Given the description of an element on the screen output the (x, y) to click on. 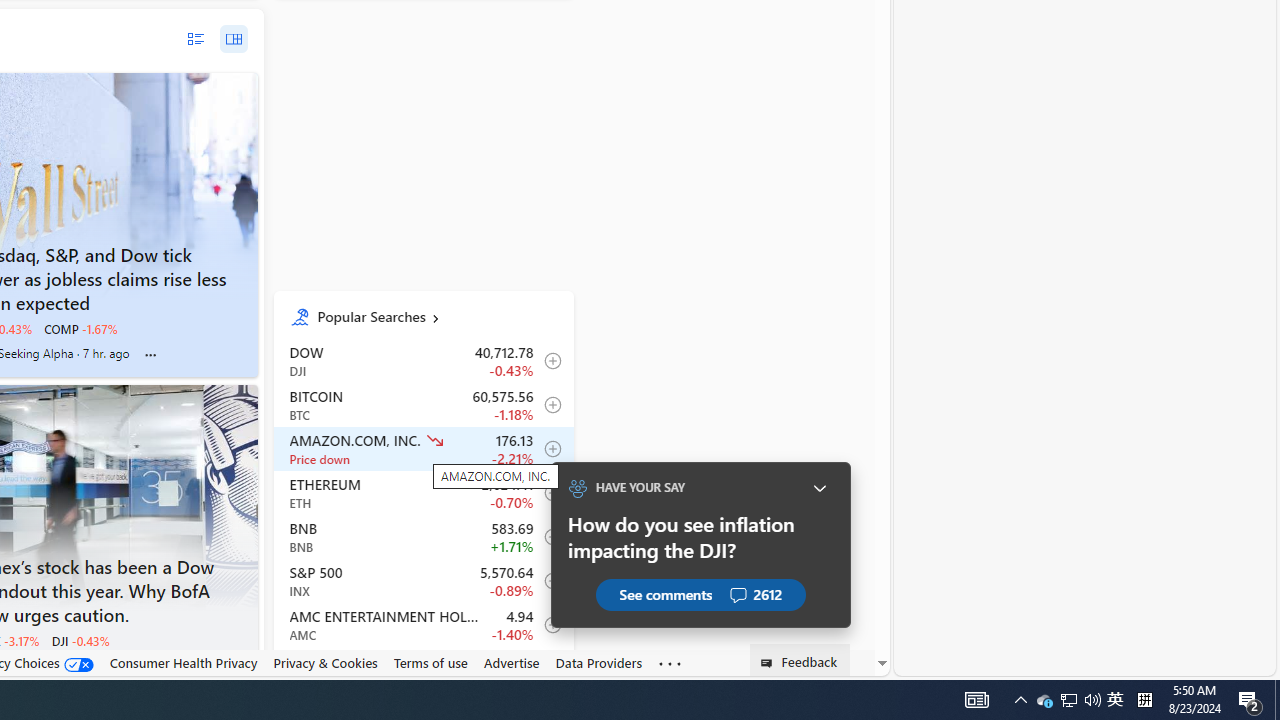
list layout (194, 39)
ETH Ethereum decrease 2,624.41 -18.32 -0.70% itemundefined (422, 492)
DJI -0.43% (80, 640)
grid layout (233, 39)
INX S&P 500 decrease 5,570.64 -50.21 -0.89% itemundefined (422, 580)
Class: oneFooter_seeMore-DS-EntryPoint1-1 (669, 663)
BNB BNB increase 583.69 +10.00 +1.71% itemundefined (422, 536)
Privacy & Cookies (324, 662)
DJI DOW decrease 40,712.78 -177.71 -0.43% itemundefined (422, 361)
Terms of use (430, 662)
Terms of use (430, 663)
Popular Searches (437, 316)
